Given the description of an element on the screen output the (x, y) to click on. 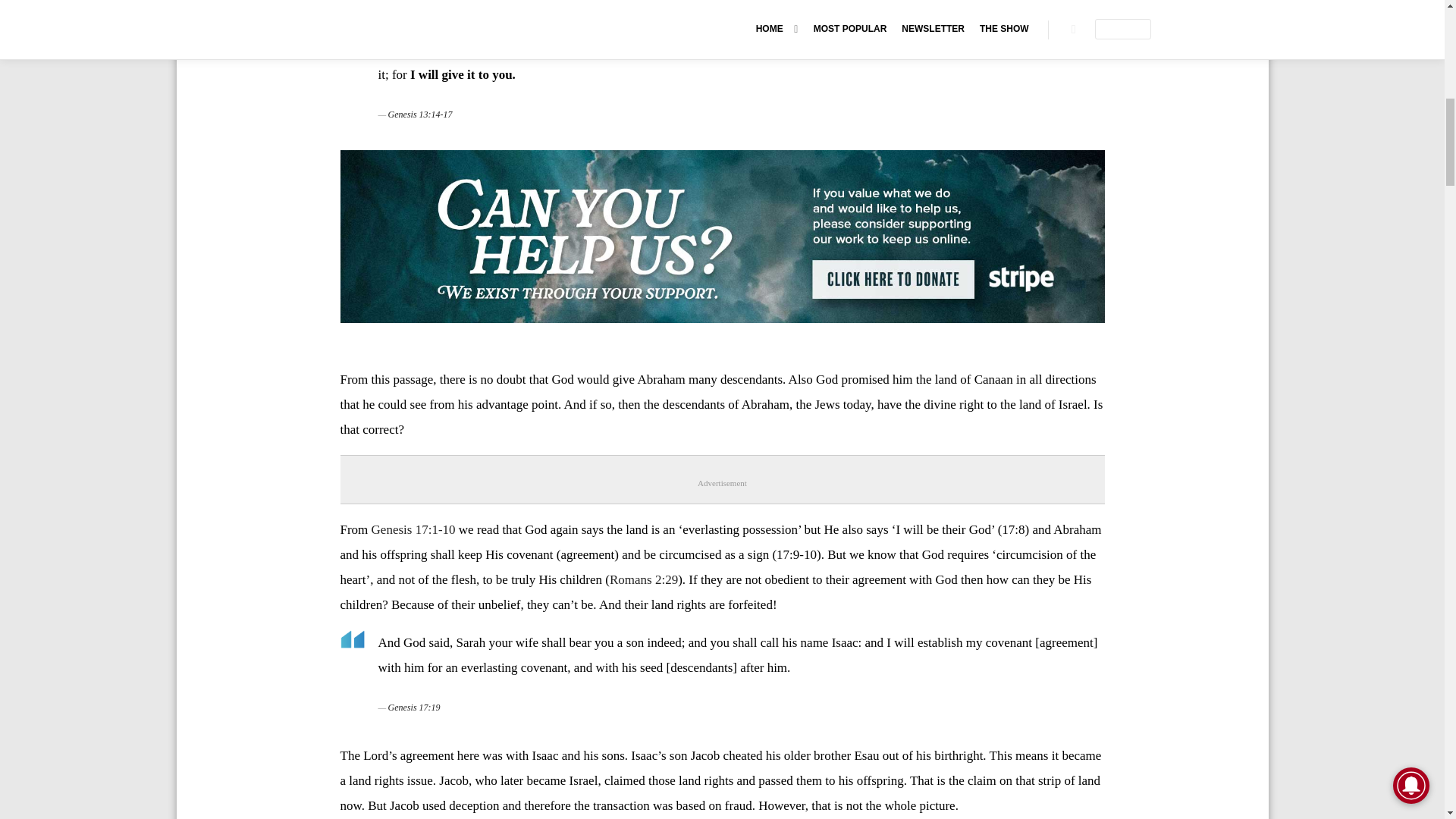
Romans 2:29 (644, 579)
Genesis 13:14-17 (420, 113)
Genesis 17:19 (414, 706)
Genesis 17:1-10 (413, 529)
